Given the description of an element on the screen output the (x, y) to click on. 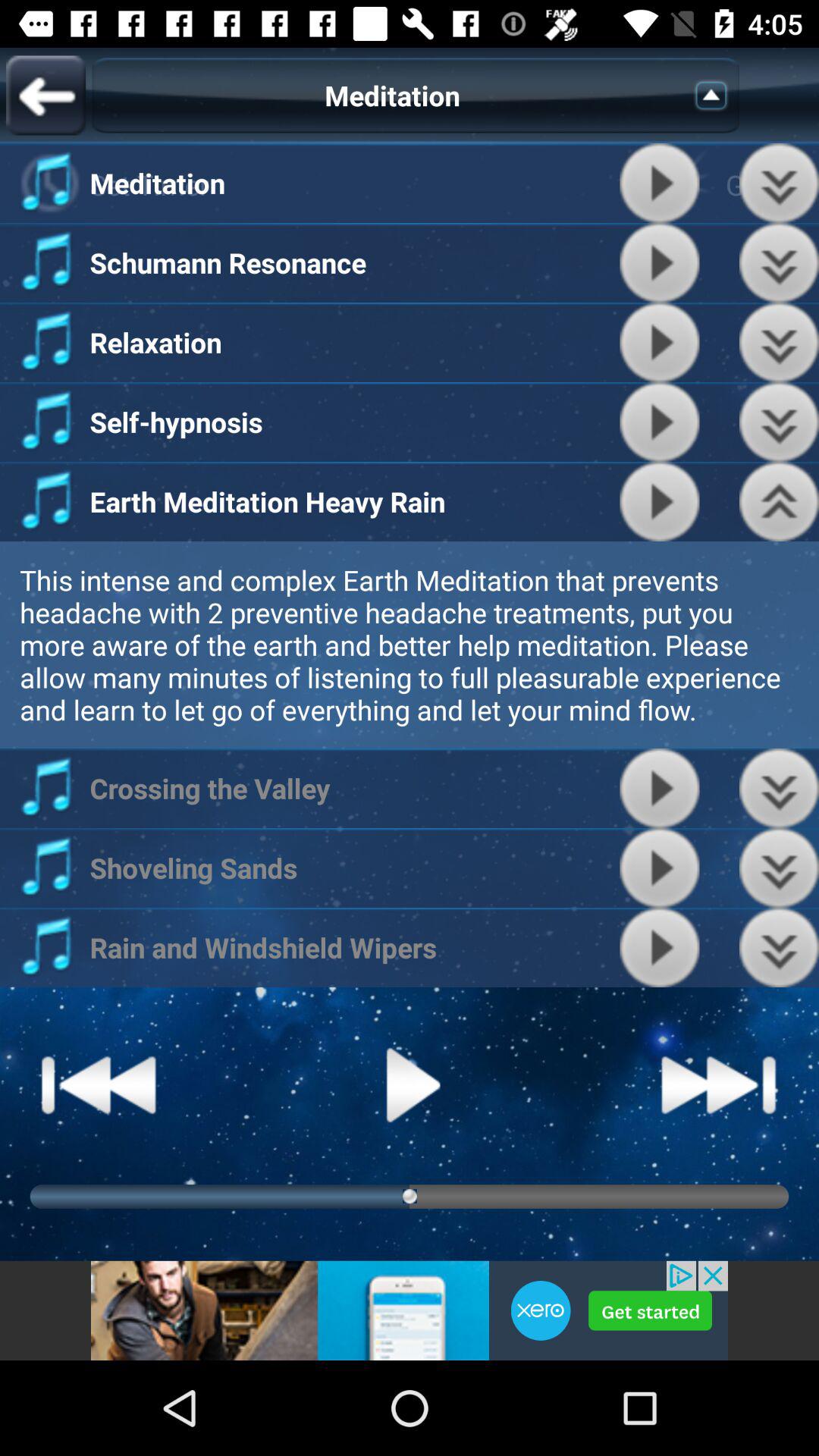
go to play (659, 262)
